Given the description of an element on the screen output the (x, y) to click on. 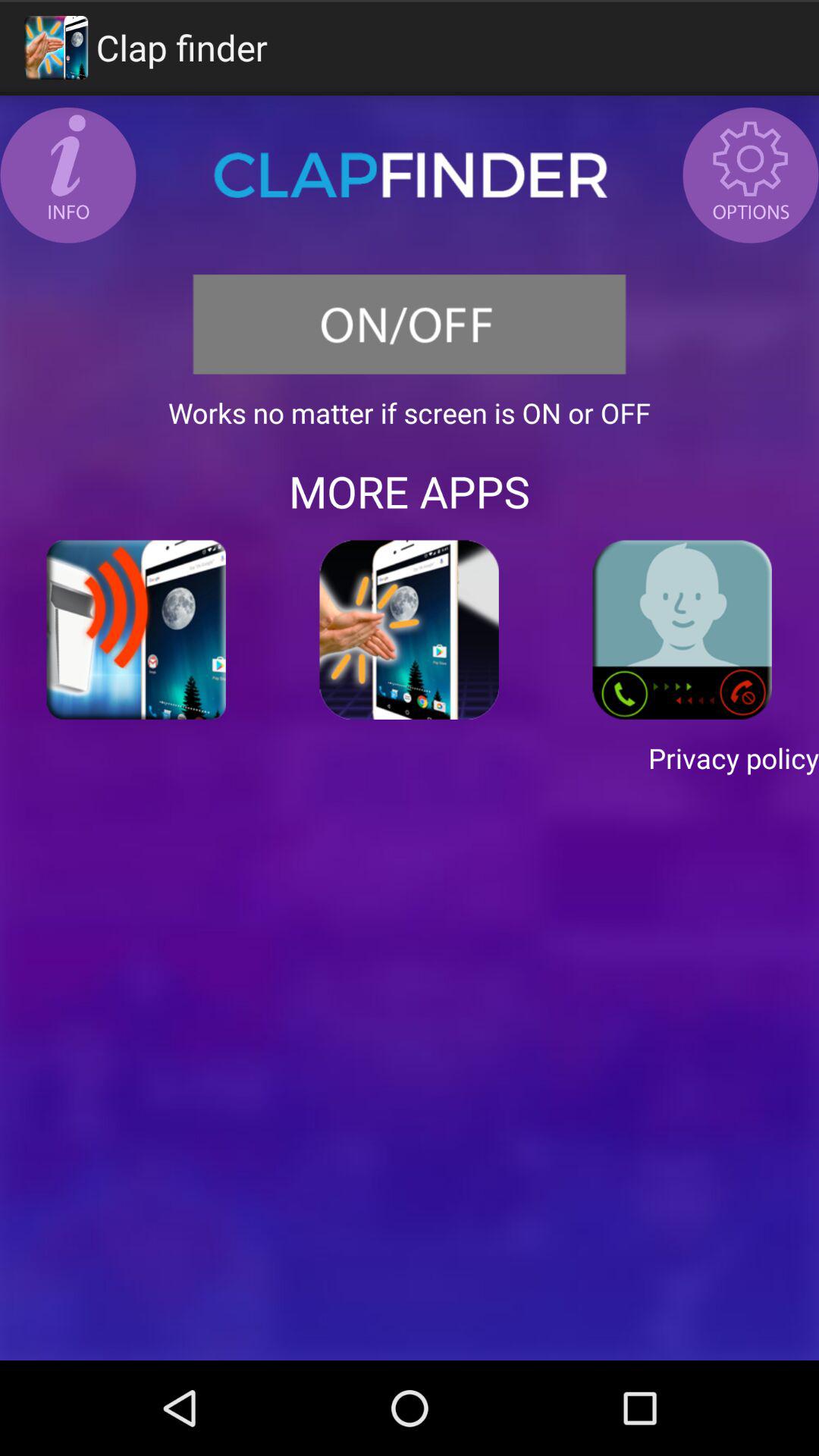
settings (750, 174)
